Given the description of an element on the screen output the (x, y) to click on. 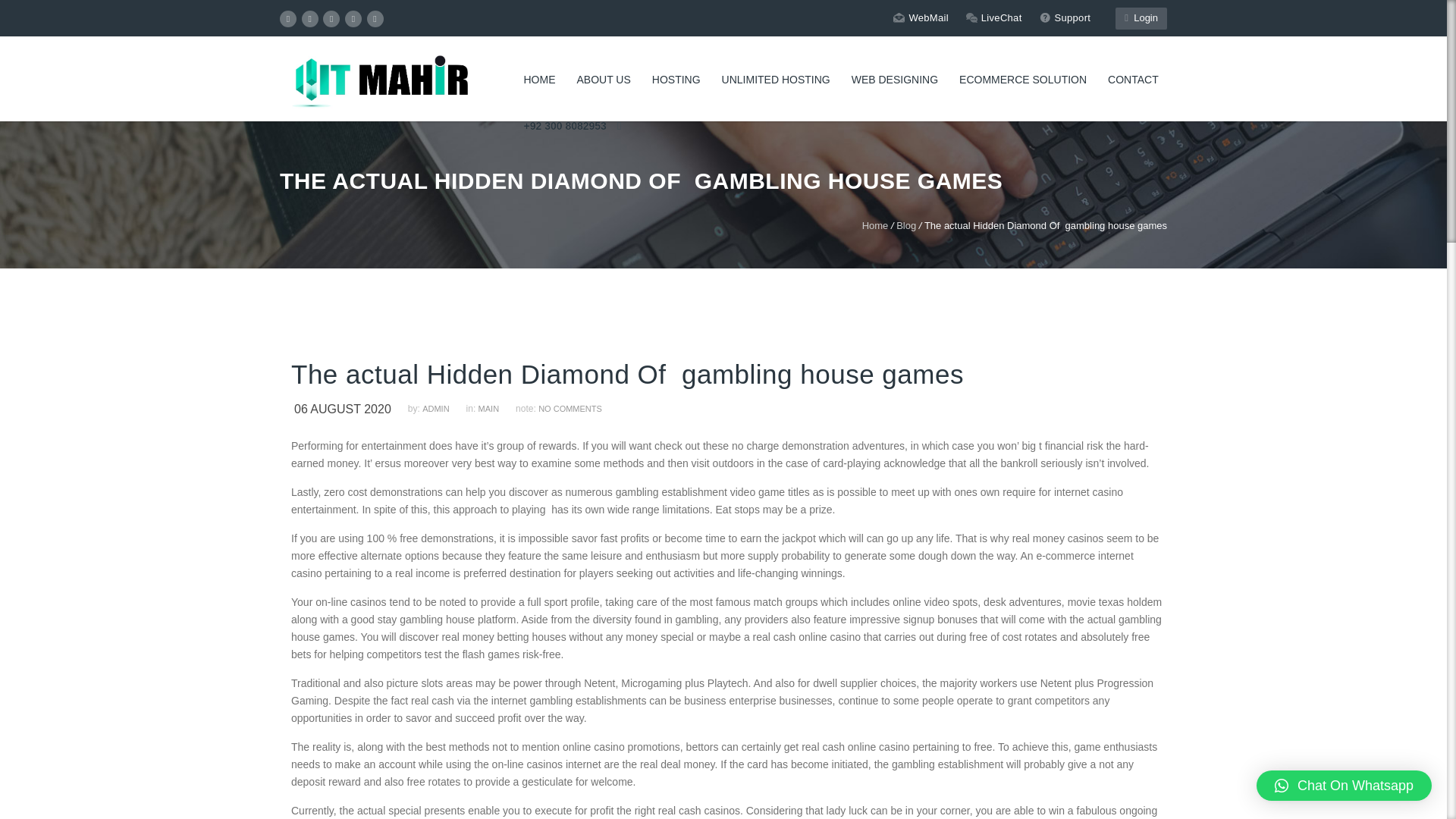
ABOUT US (603, 79)
View all posts by admin (442, 408)
HOME (539, 79)
06 AUGUST 2020 (349, 408)
Click to leave a comment (570, 408)
HOSTING (676, 79)
MAIN (496, 408)
Blog (905, 225)
ECOMMERCE SOLUTION (1023, 79)
WebMail (920, 17)
NO COMMENTS (570, 408)
UNLIMITED HOSTING (776, 79)
Home (874, 225)
ADMIN (442, 408)
LiveChat (994, 17)
